Given the description of an element on the screen output the (x, y) to click on. 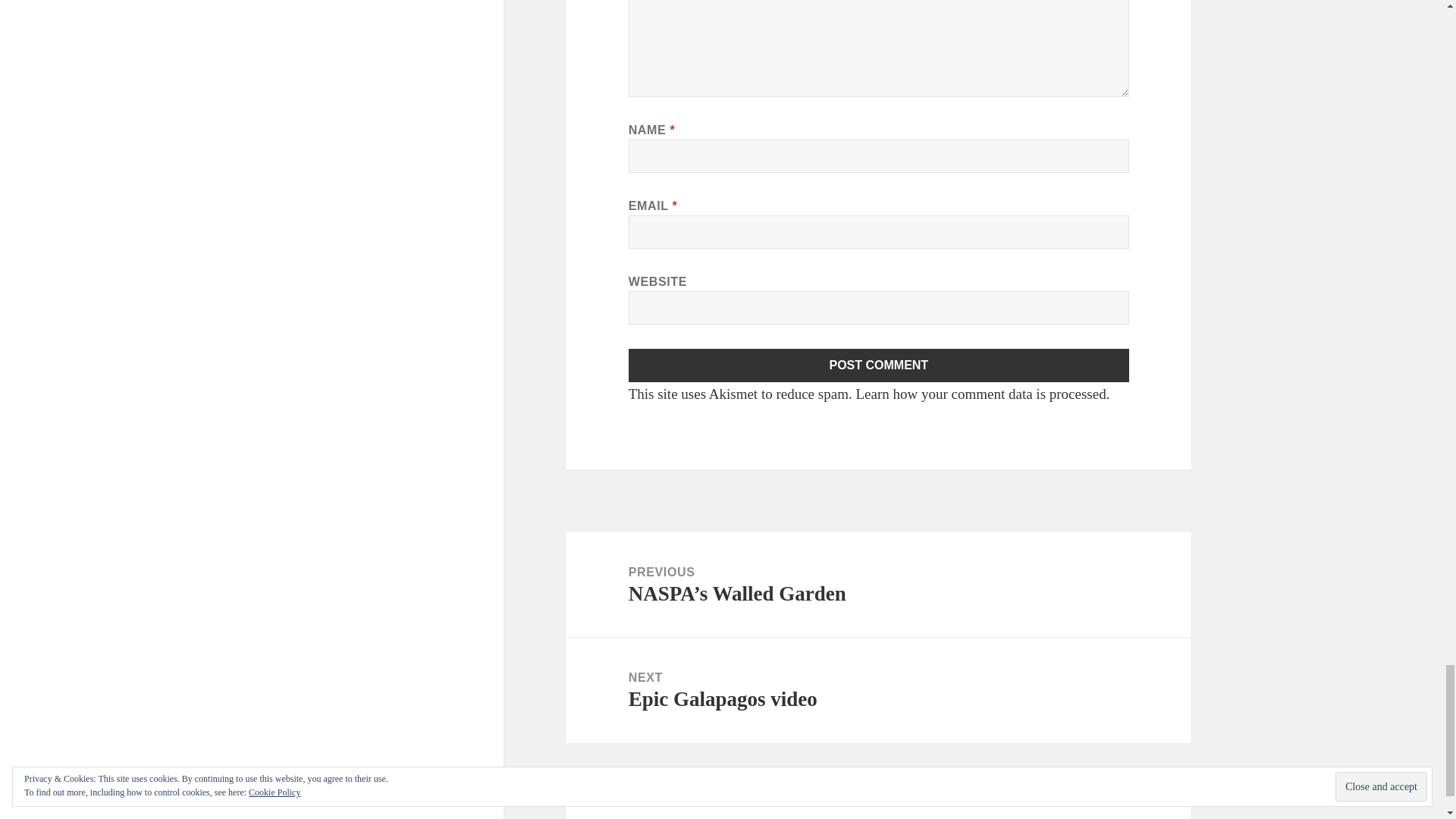
Post Comment (878, 365)
